Given the description of an element on the screen output the (x, y) to click on. 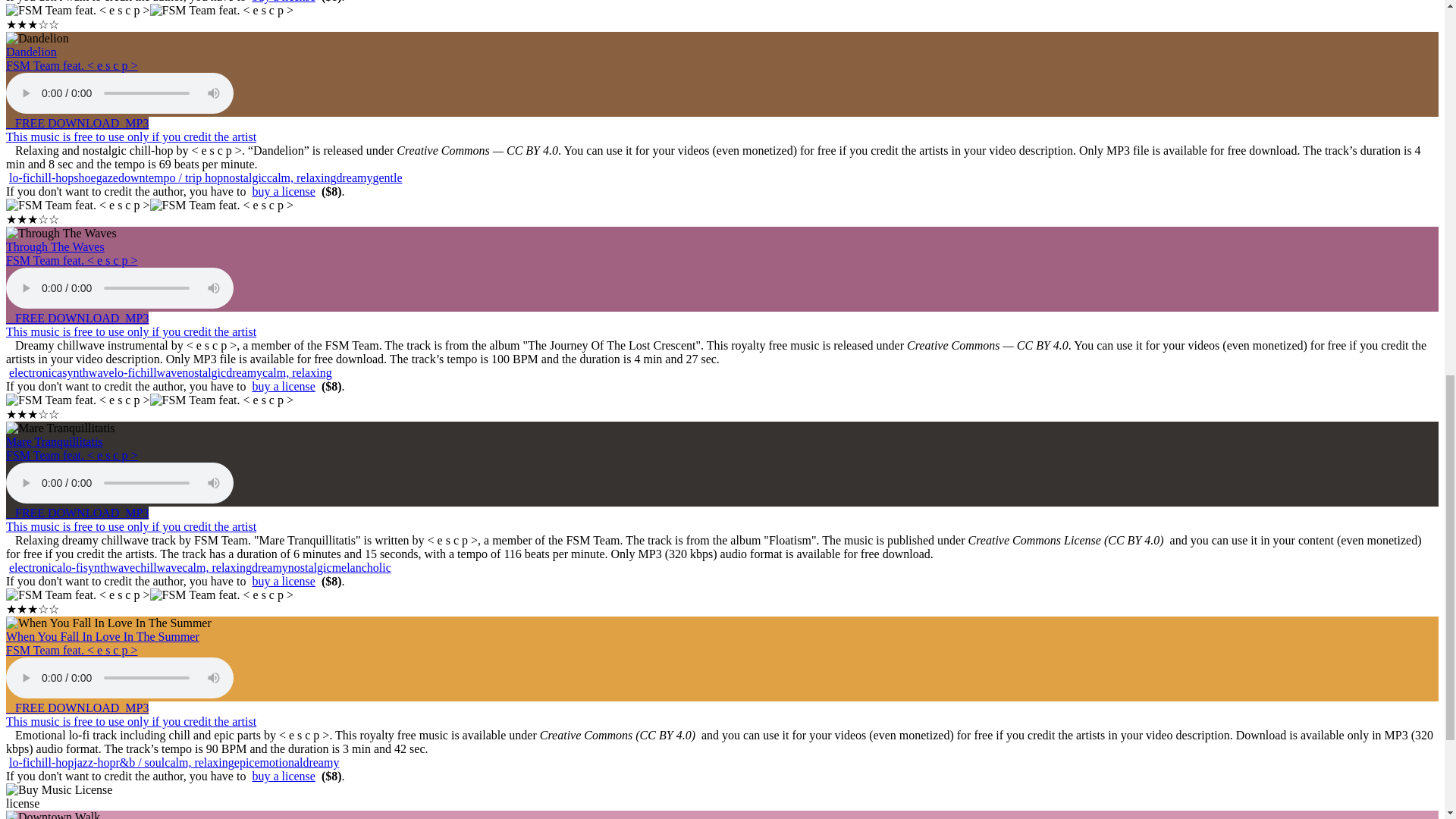
lo-fi (19, 177)
chill-hop (52, 177)
shoegaze (95, 177)
buy a license (283, 1)
nostalgic (244, 177)
